Given the description of an element on the screen output the (x, y) to click on. 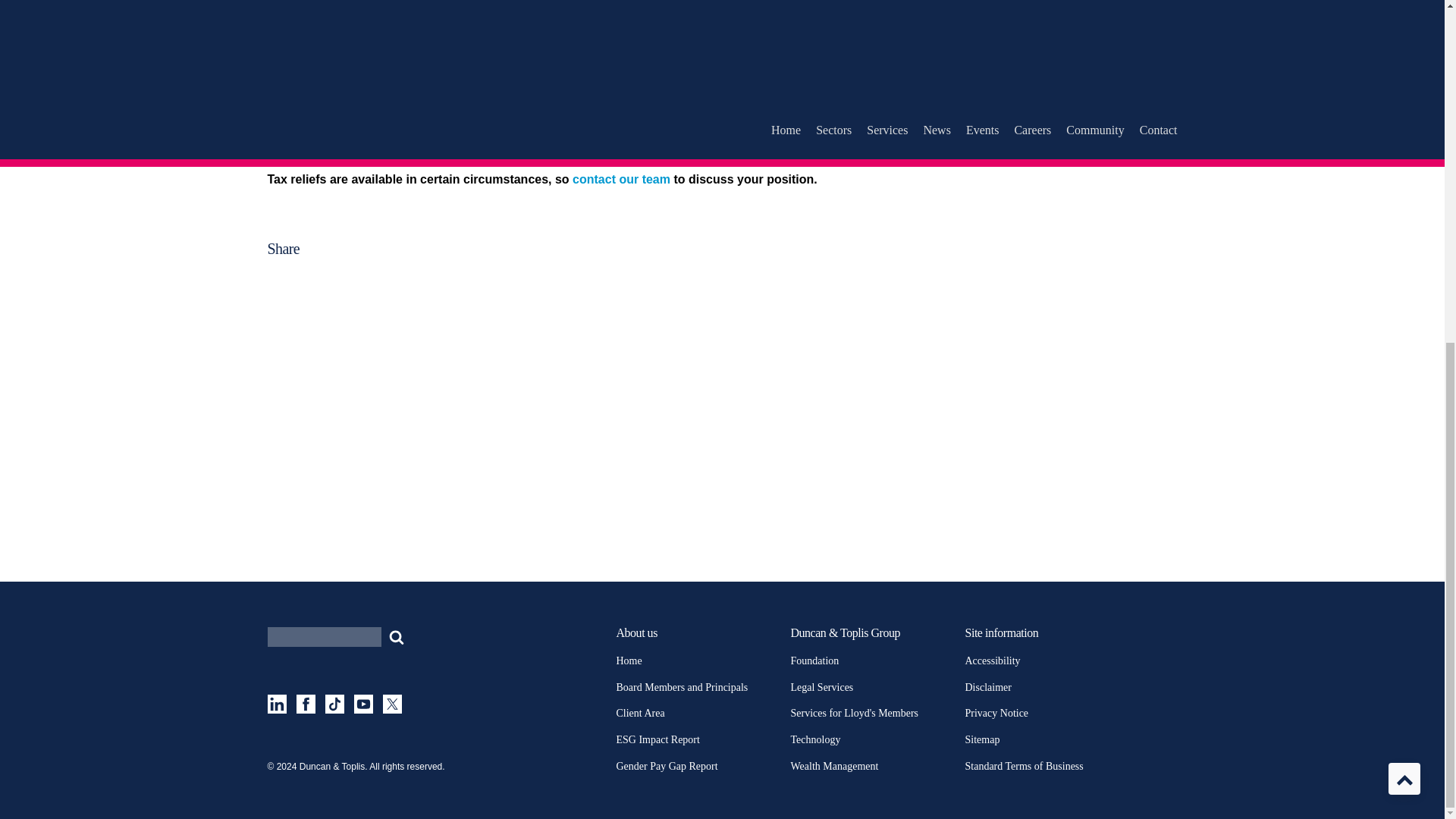
Share on Facebook (619, 279)
Share on LinkedIn (380, 279)
Share on X (388, 310)
Share via Email (627, 310)
